Given the description of an element on the screen output the (x, y) to click on. 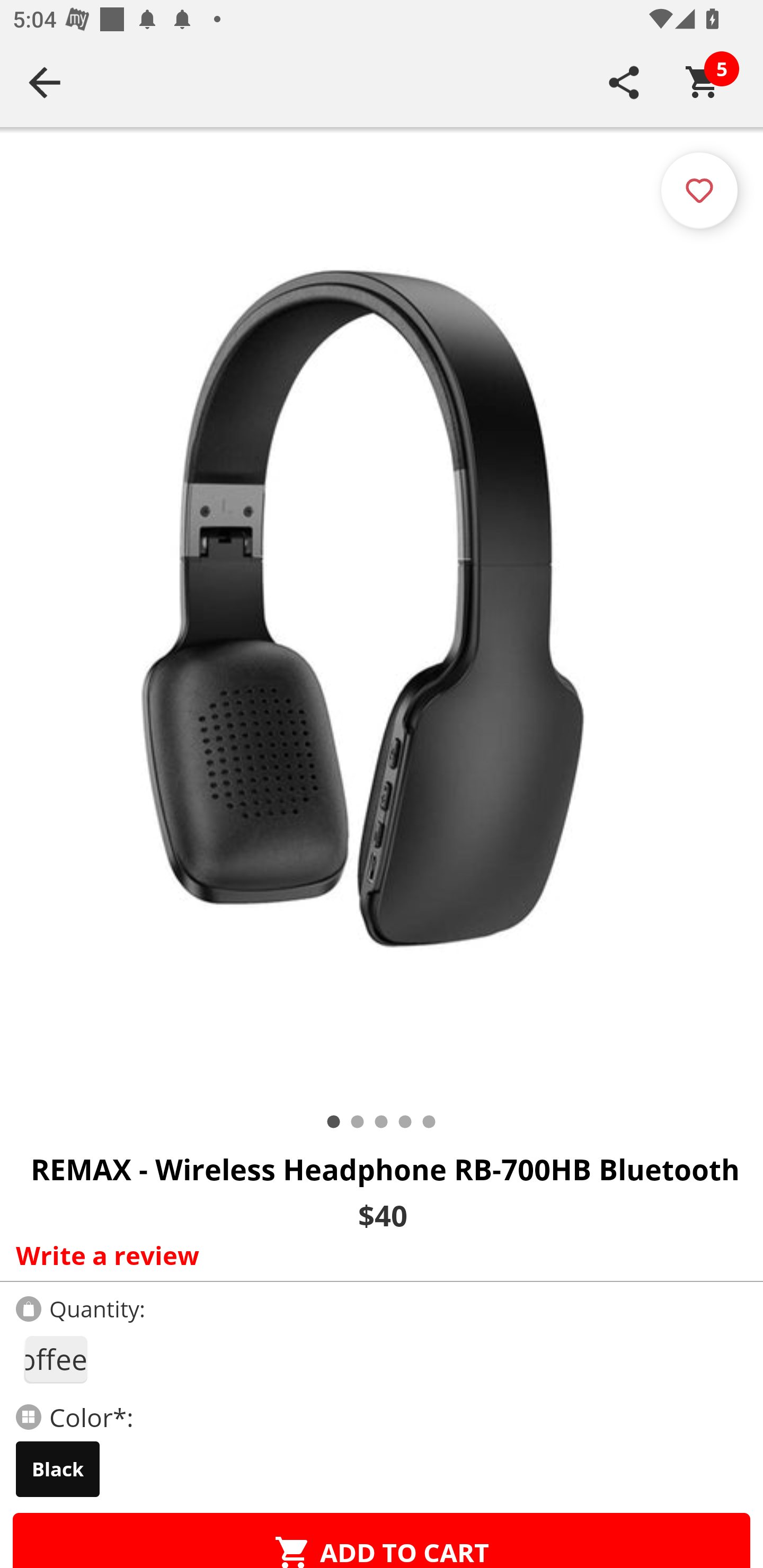
Navigate up (44, 82)
SHARE (623, 82)
Cart (703, 81)
Write a review (377, 1255)
1coffee (55, 1358)
Black (57, 1468)
ADD TO CART (381, 1540)
